Given the description of an element on the screen output the (x, y) to click on. 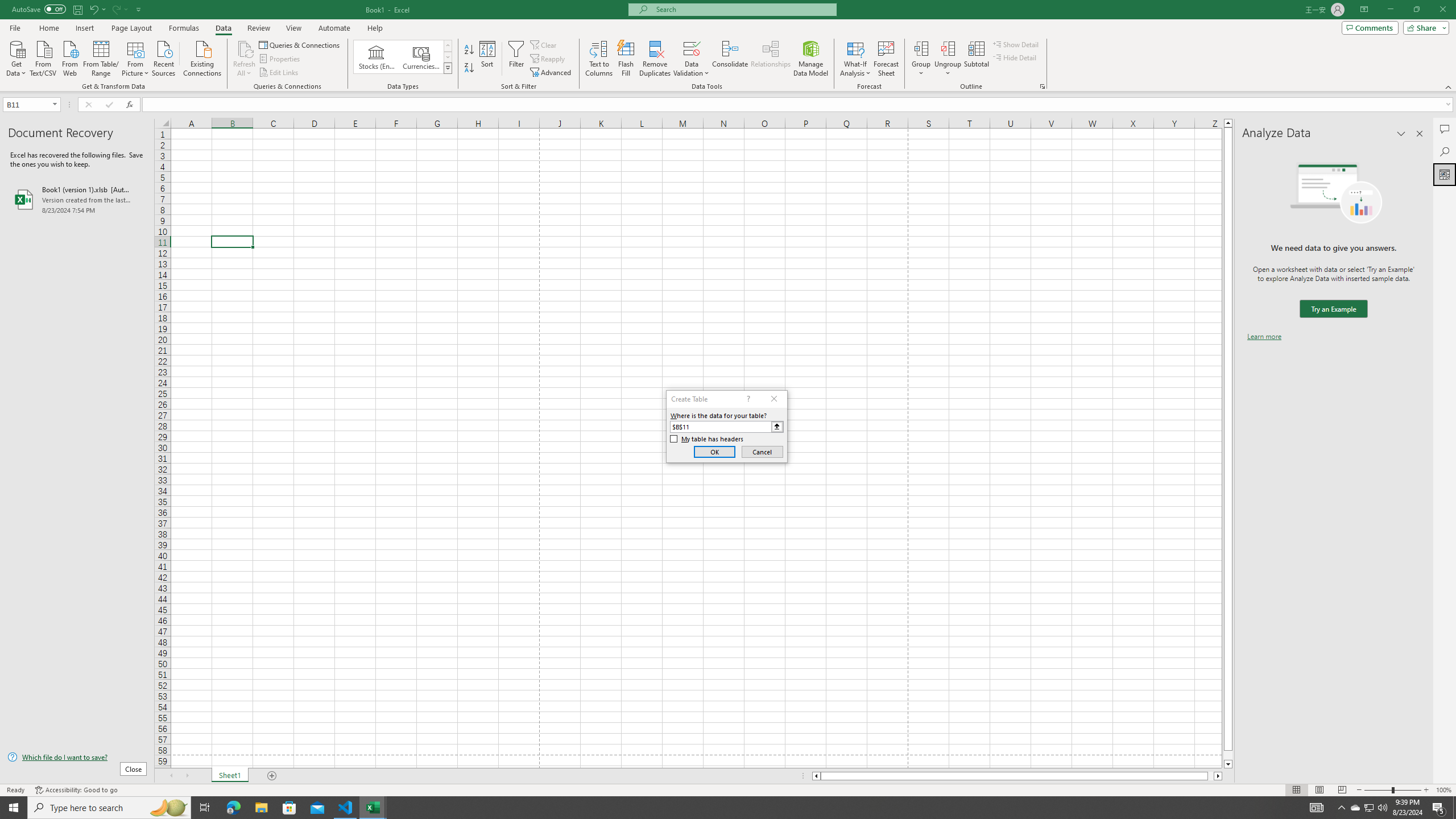
Flash Fill (625, 58)
From Picture (135, 57)
Show Detail (1016, 44)
Stocks (English) (375, 56)
Existing Connections (202, 57)
Sort A to Z (469, 49)
